Given the description of an element on the screen output the (x, y) to click on. 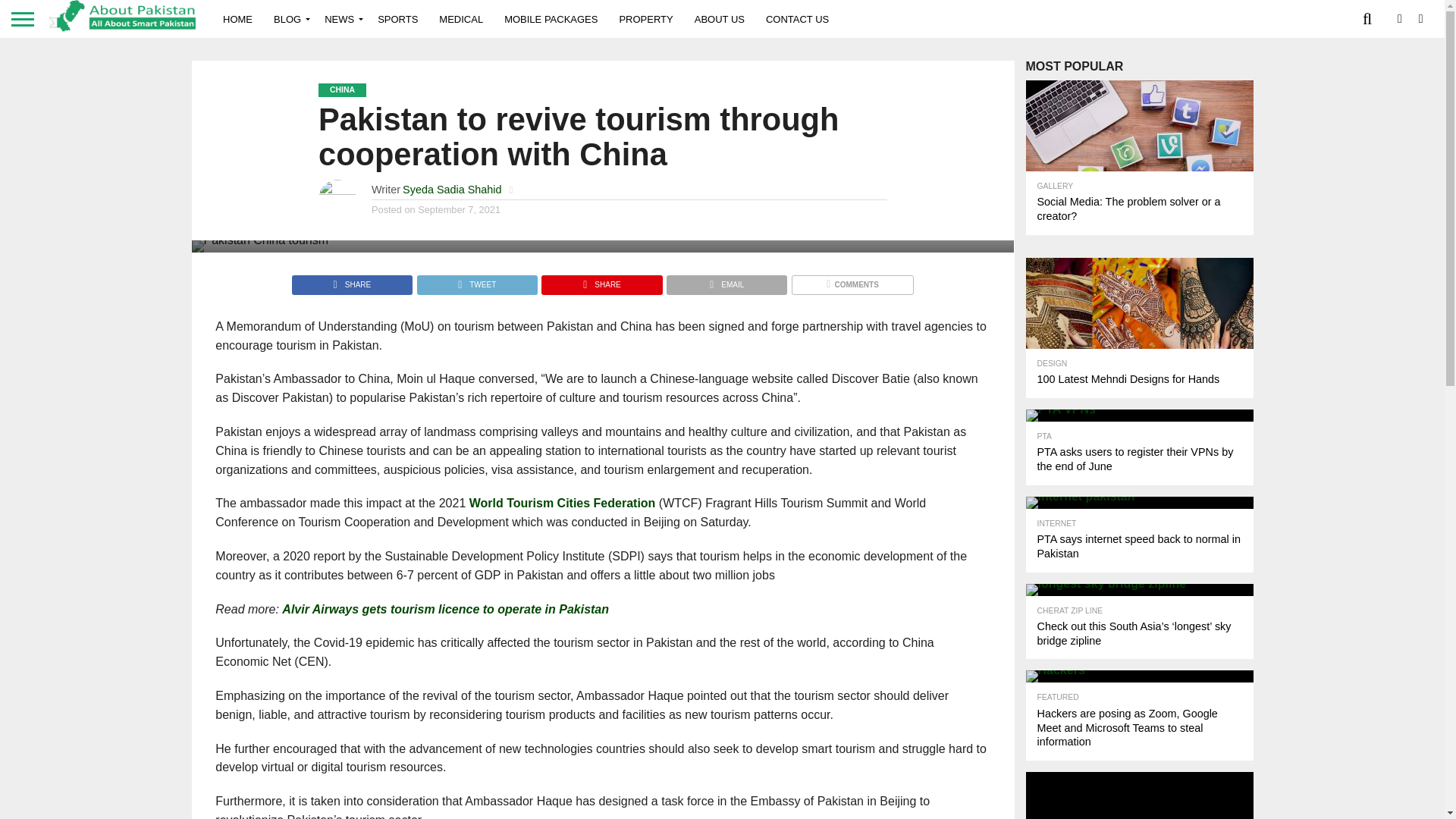
Share on Facebook (352, 280)
Pin This Post (601, 280)
HOME (237, 18)
Posts by Syeda Sadia Shahid (451, 189)
BLOG (288, 18)
Tweet This Post (476, 280)
